Given the description of an element on the screen output the (x, y) to click on. 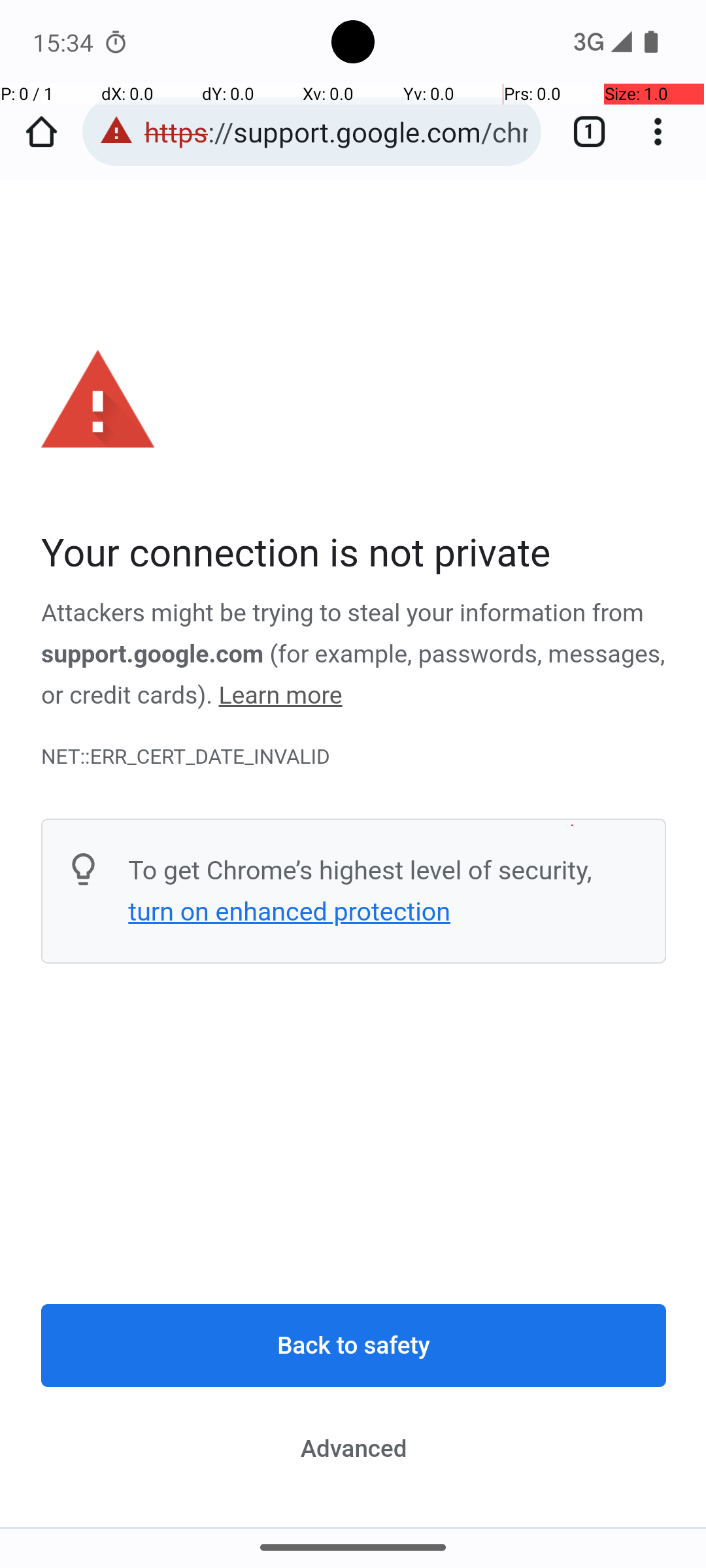
https://support.google.com/chrome/?p=new_tab Element type: android.widget.EditText (335, 131)
support.google.com Element type: android.widget.TextView (152, 653)
